Given the description of an element on the screen output the (x, y) to click on. 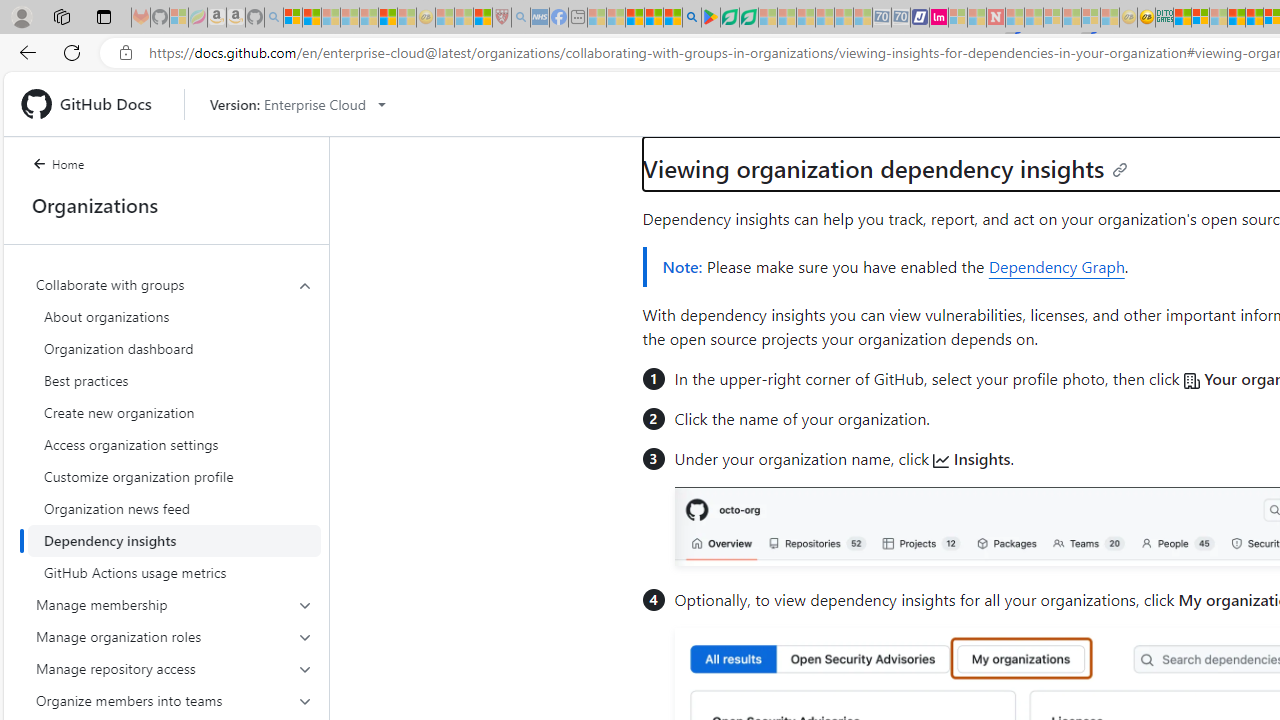
Customize organization profile (174, 476)
Best practices (174, 380)
Create new organization (174, 412)
Manage membership (174, 604)
Manage organization roles (174, 636)
Microsoft Word - consumer-privacy address update 2.2021 (748, 17)
Dependency Graph (1056, 266)
Organization dashboard (174, 348)
Jobs - lastminute.com Investor Portal (939, 17)
